Given the description of an element on the screen output the (x, y) to click on. 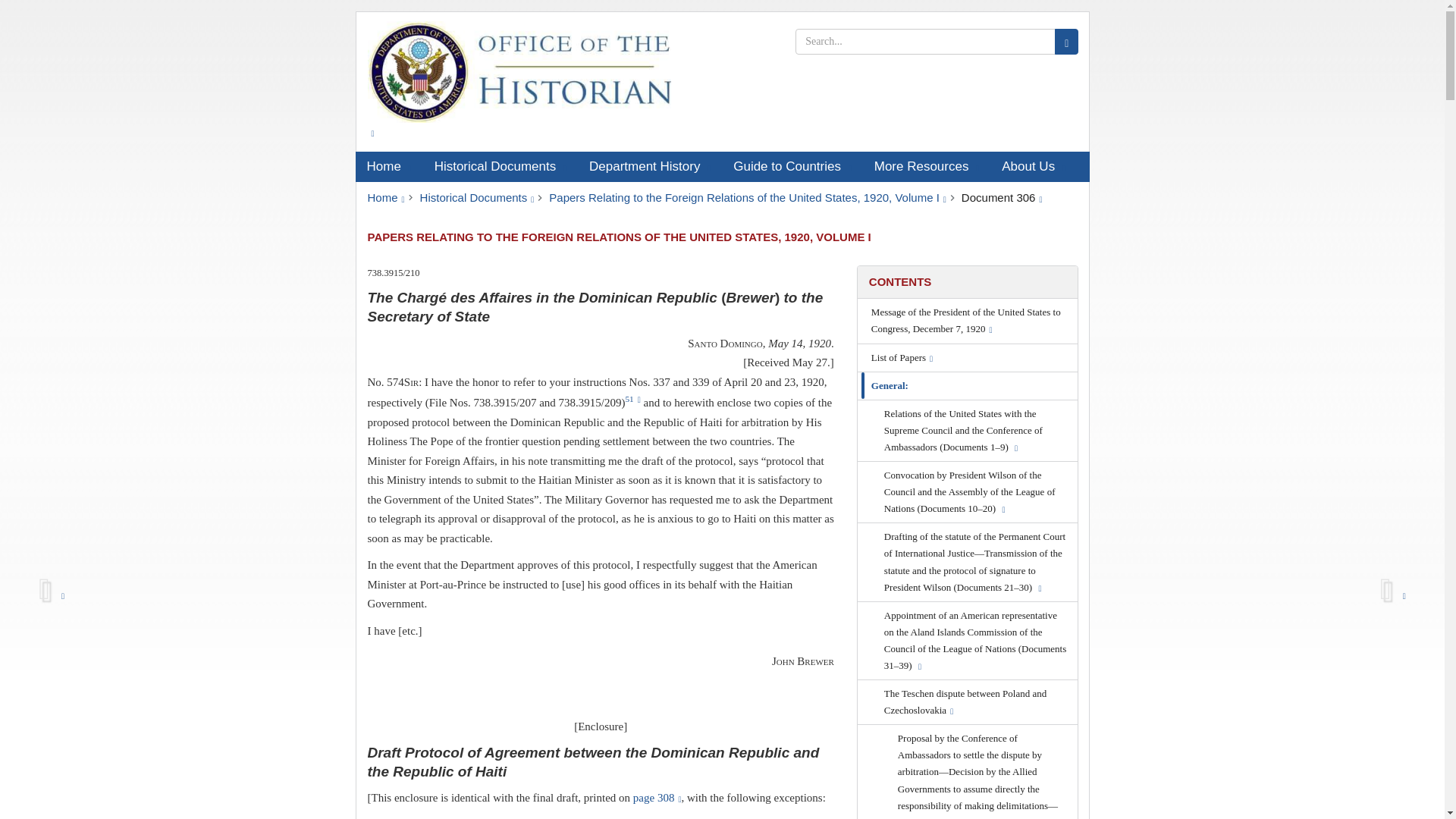
Guide to Countries (792, 166)
Home (385, 196)
More Resources (926, 166)
About Us (1033, 166)
Document 306 (1001, 196)
Department History (650, 166)
Historical Documents (477, 196)
Historical Documents (500, 166)
Home (388, 166)
